Given the description of an element on the screen output the (x, y) to click on. 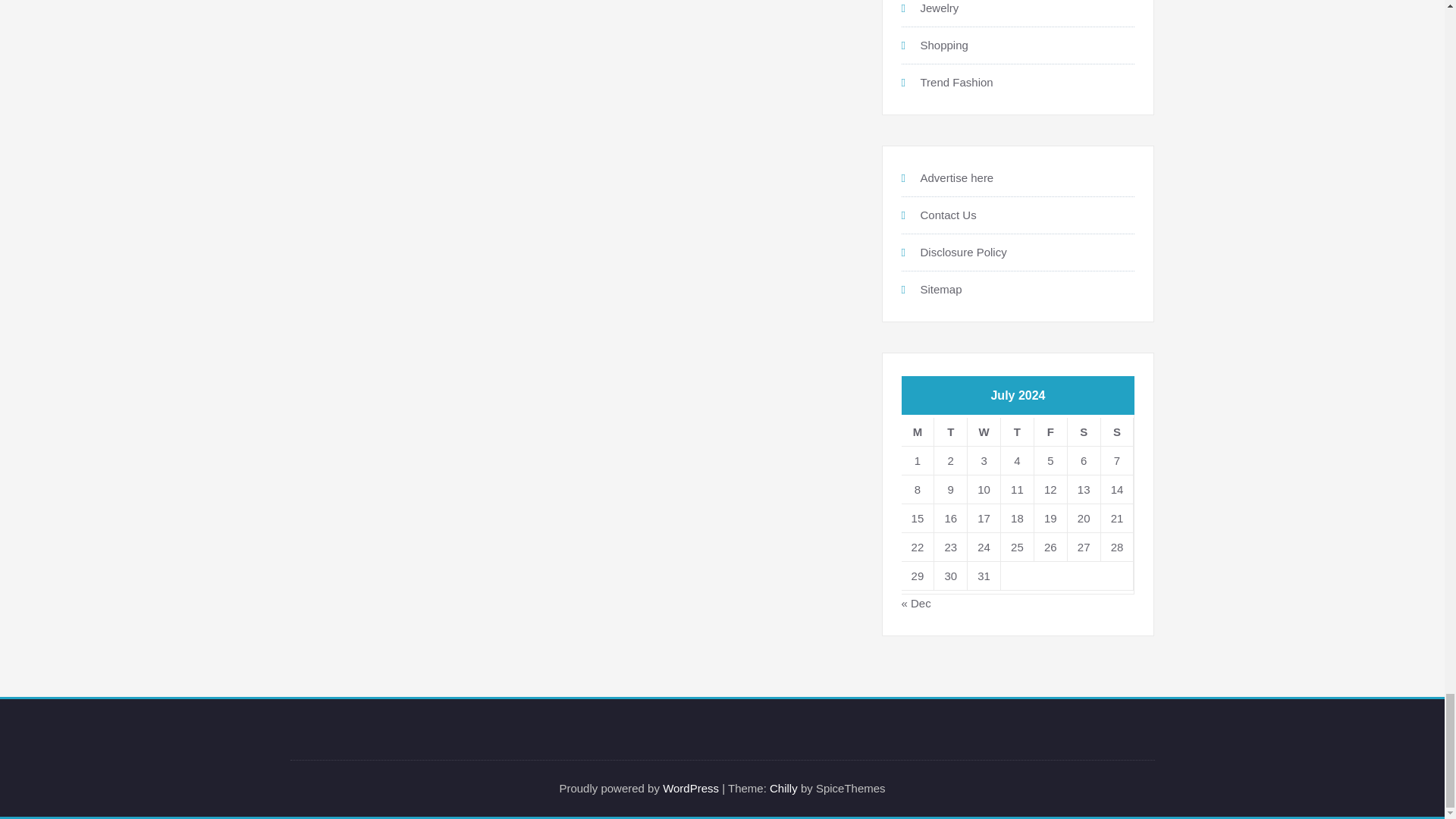
Friday (1050, 431)
Monday (917, 431)
Thursday (1017, 431)
Saturday (1083, 431)
Wednesday (984, 431)
Sunday (1117, 431)
Tuesday (951, 431)
